Given the description of an element on the screen output the (x, y) to click on. 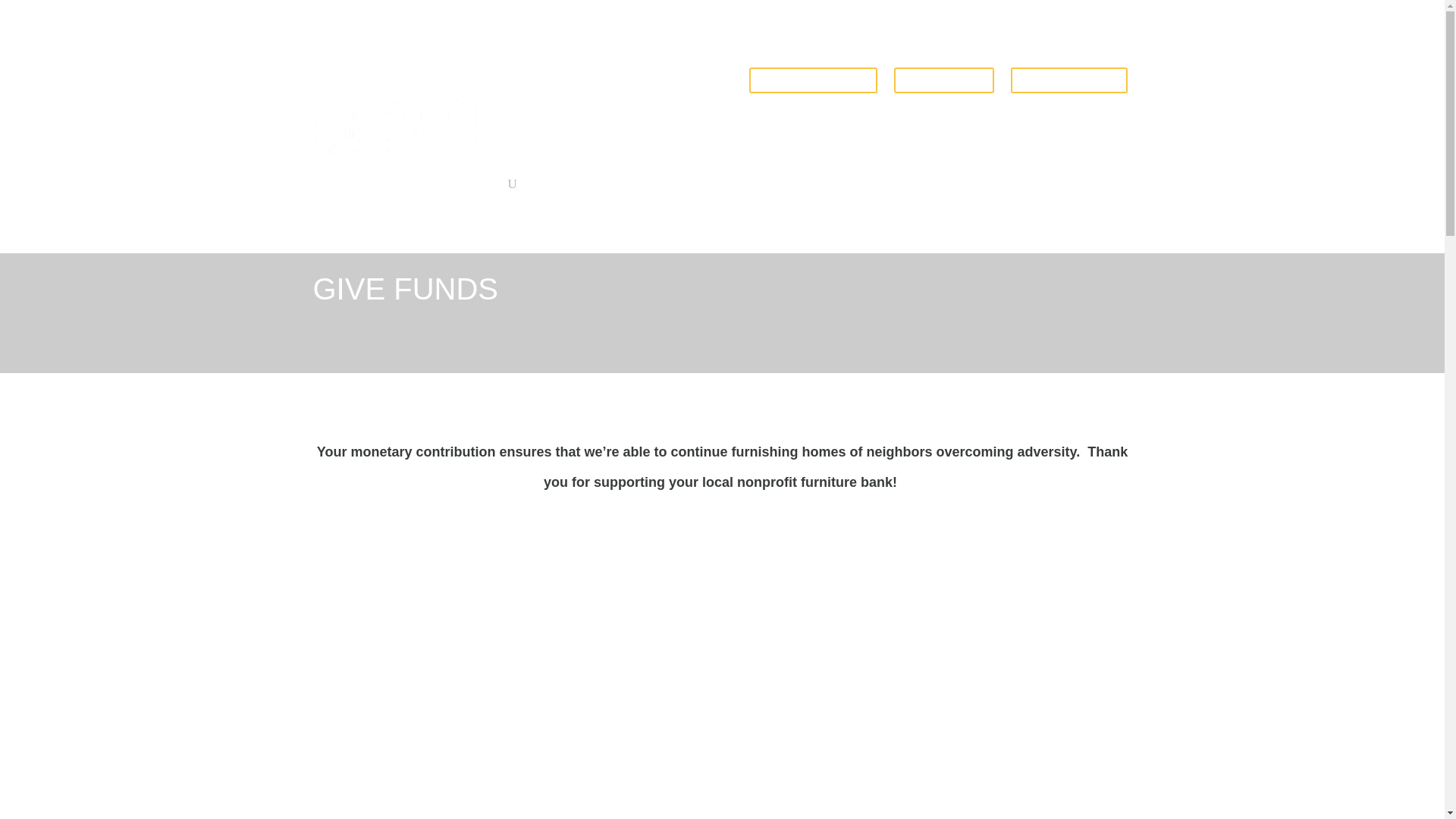
GIVE FURNITURE (813, 80)
ESTATE STORE (1068, 80)
Volunteer (649, 89)
GIVE FUNDS (943, 80)
Services (577, 89)
